Given the description of an element on the screen output the (x, y) to click on. 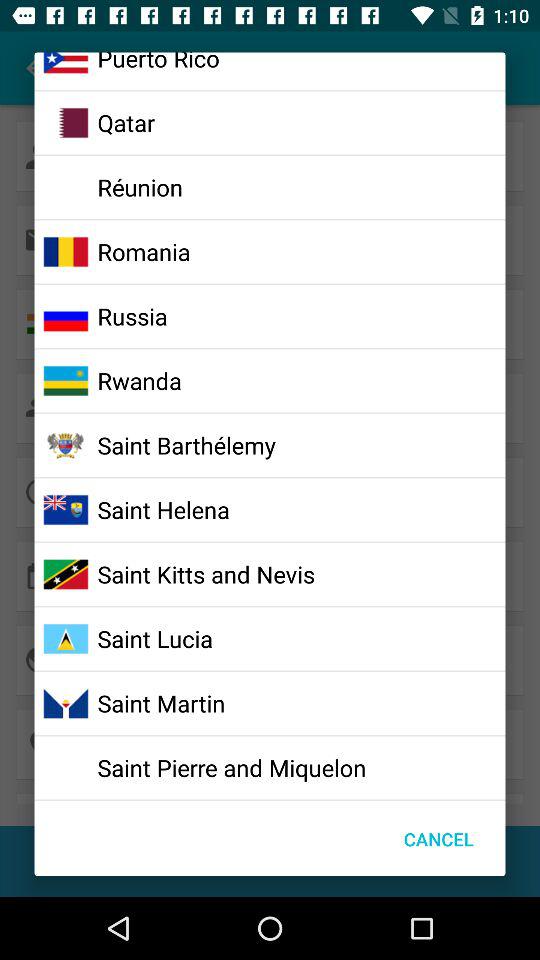
swipe to the qatar icon (125, 122)
